Given the description of an element on the screen output the (x, y) to click on. 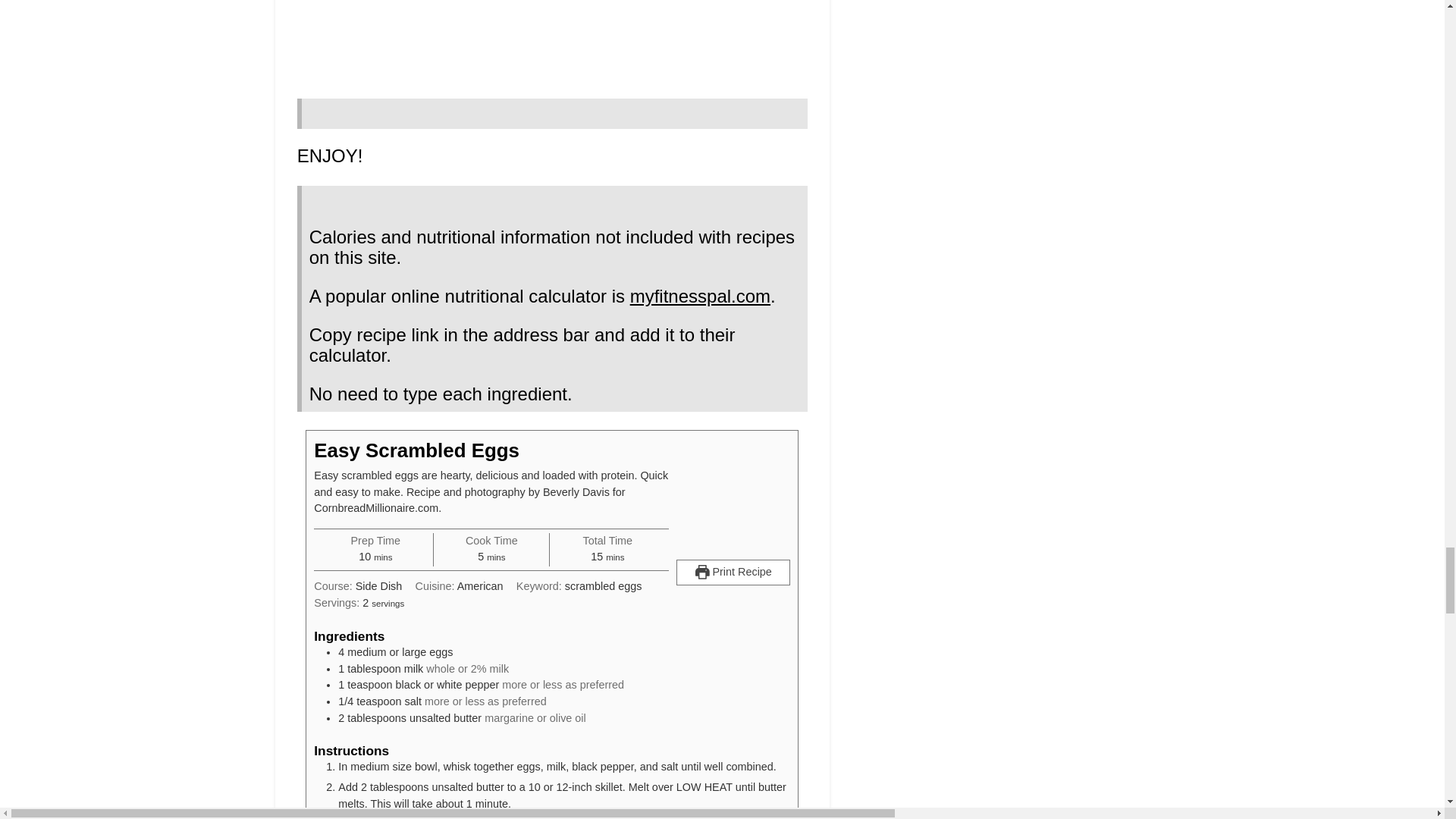
myfitnesspal.com (700, 295)
Print Recipe (733, 572)
